Given the description of an element on the screen output the (x, y) to click on. 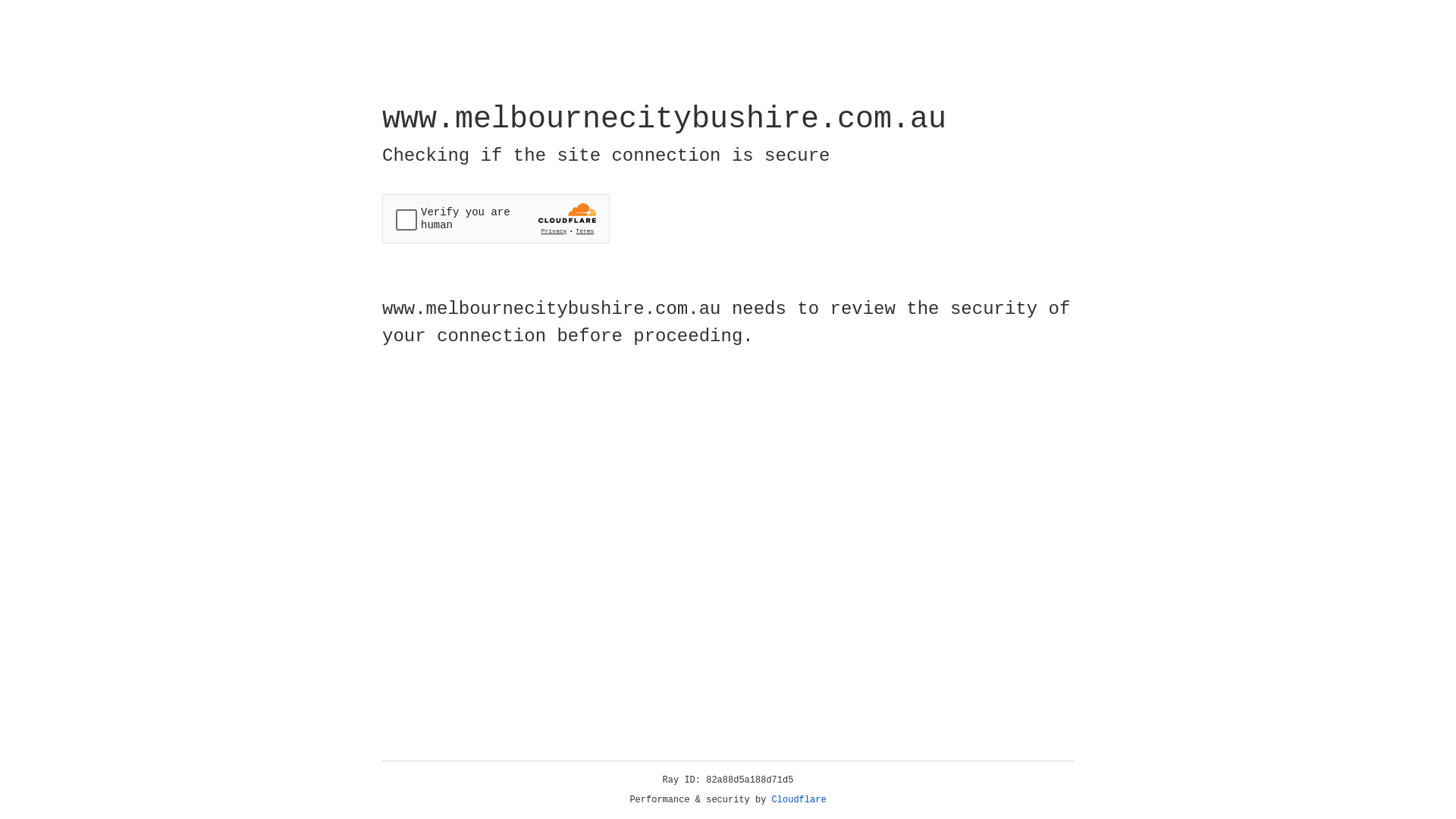
Widget containing a Cloudflare security challenge Element type: hover (495, 218)
Cloudflare Element type: text (798, 799)
